Given the description of an element on the screen output the (x, y) to click on. 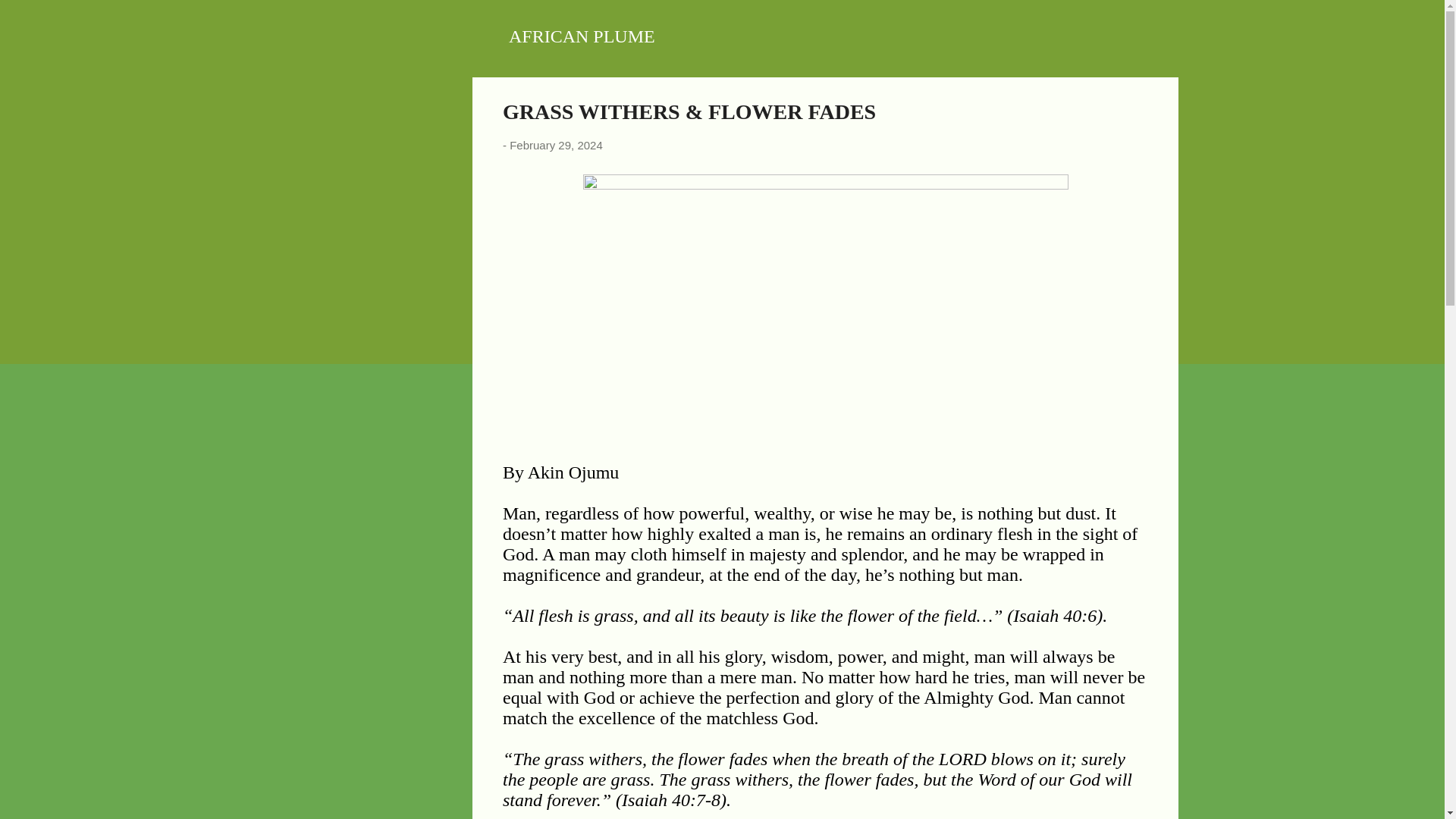
Search (29, 18)
permanent link (555, 144)
AFRICAN PLUME (581, 35)
February 29, 2024 (555, 144)
